Given the description of an element on the screen output the (x, y) to click on. 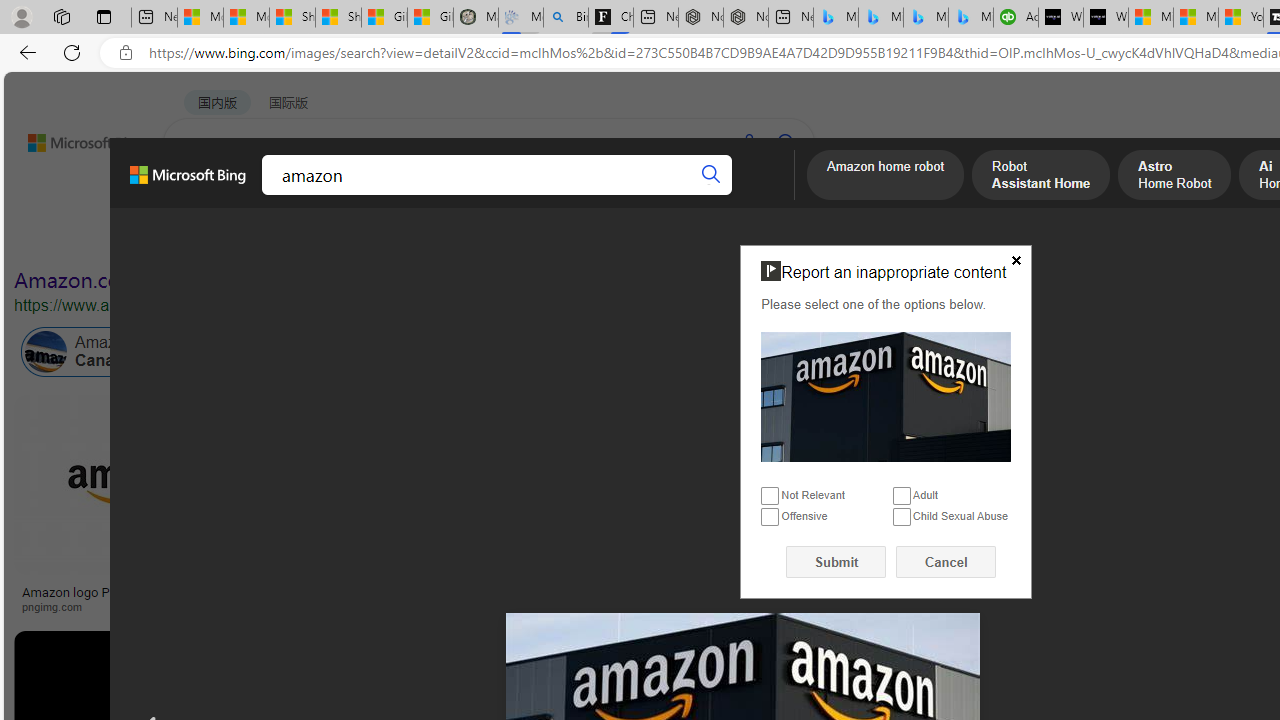
Amazon Animals (749, 351)
Image result for amazon (923, 675)
Listen: What's next for Amazon?usatoday.comSave (713, 508)
Amazon Kids (464, 351)
People (520, 237)
Date (591, 237)
Amazon Echo Dot 4th Gen (1183, 465)
Bing Real Estate - Home sales and rental listings (565, 17)
Amazon Logo Png Hd Wallpaper | Images and Photos finder (982, 598)
MAPS (698, 195)
